Given the description of an element on the screen output the (x, y) to click on. 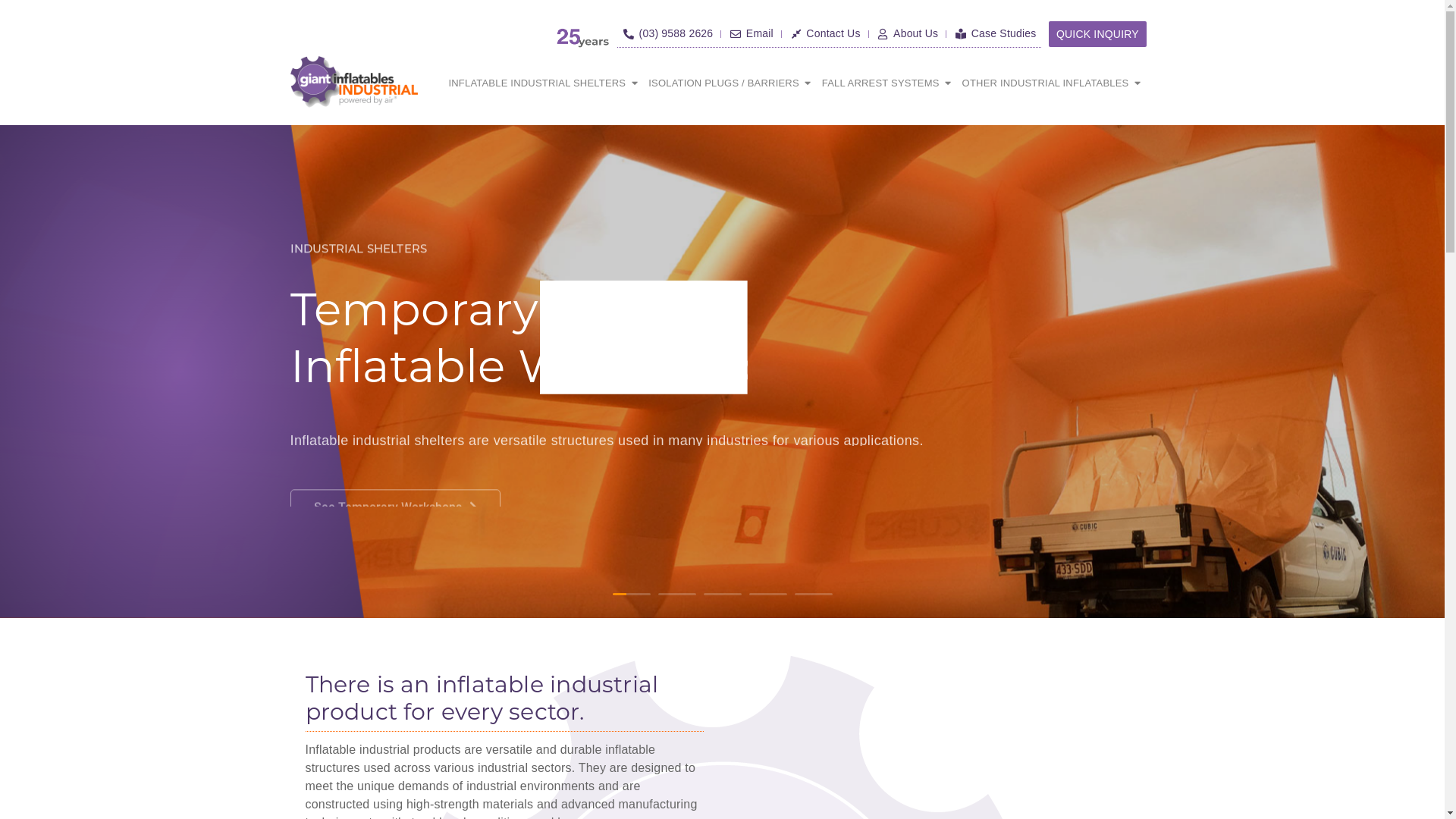
ISOLATION PLUGS / BARRIERS Element type: text (723, 83)
Email Element type: text (750, 33)
QUICK INQUIRY Element type: text (1097, 34)
Contact Us Element type: text (824, 33)
INFLATABLE INDUSTRIAL SHELTERS Element type: text (536, 83)
(03) 9588 2626 Element type: text (666, 33)
About Us Element type: text (907, 33)
Case Studies Element type: text (994, 33)
